Given the description of an element on the screen output the (x, y) to click on. 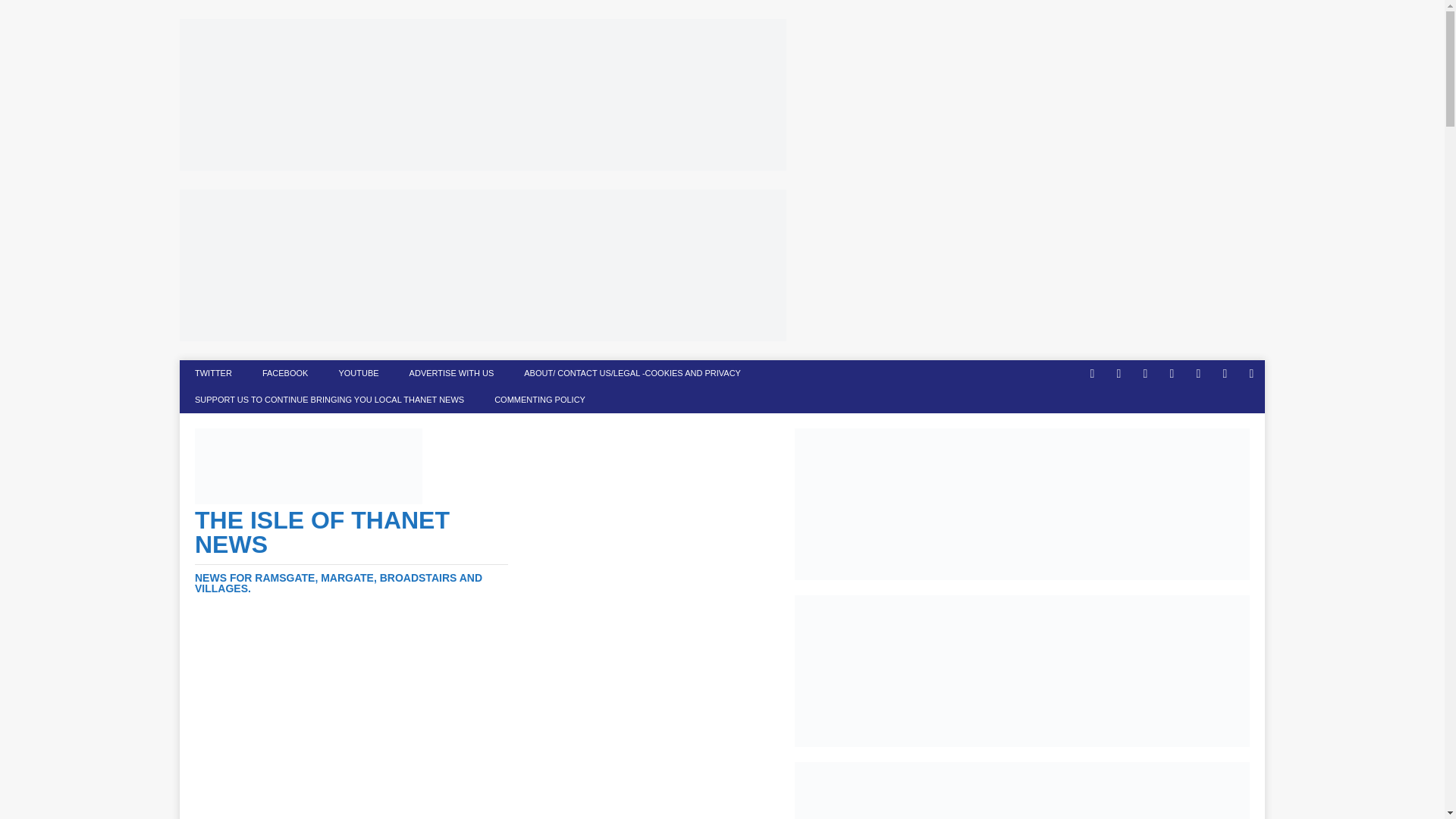
YOUTUBE (358, 373)
TWITTER (213, 373)
SUPPORT US TO CONTINUE BRINGING YOU LOCAL THANET NEWS (329, 399)
ADVERTISE WITH US (451, 373)
The Isle Of Thanet News (351, 550)
COMMENTING POLICY (539, 399)
FACEBOOK (285, 373)
